Given the description of an element on the screen output the (x, y) to click on. 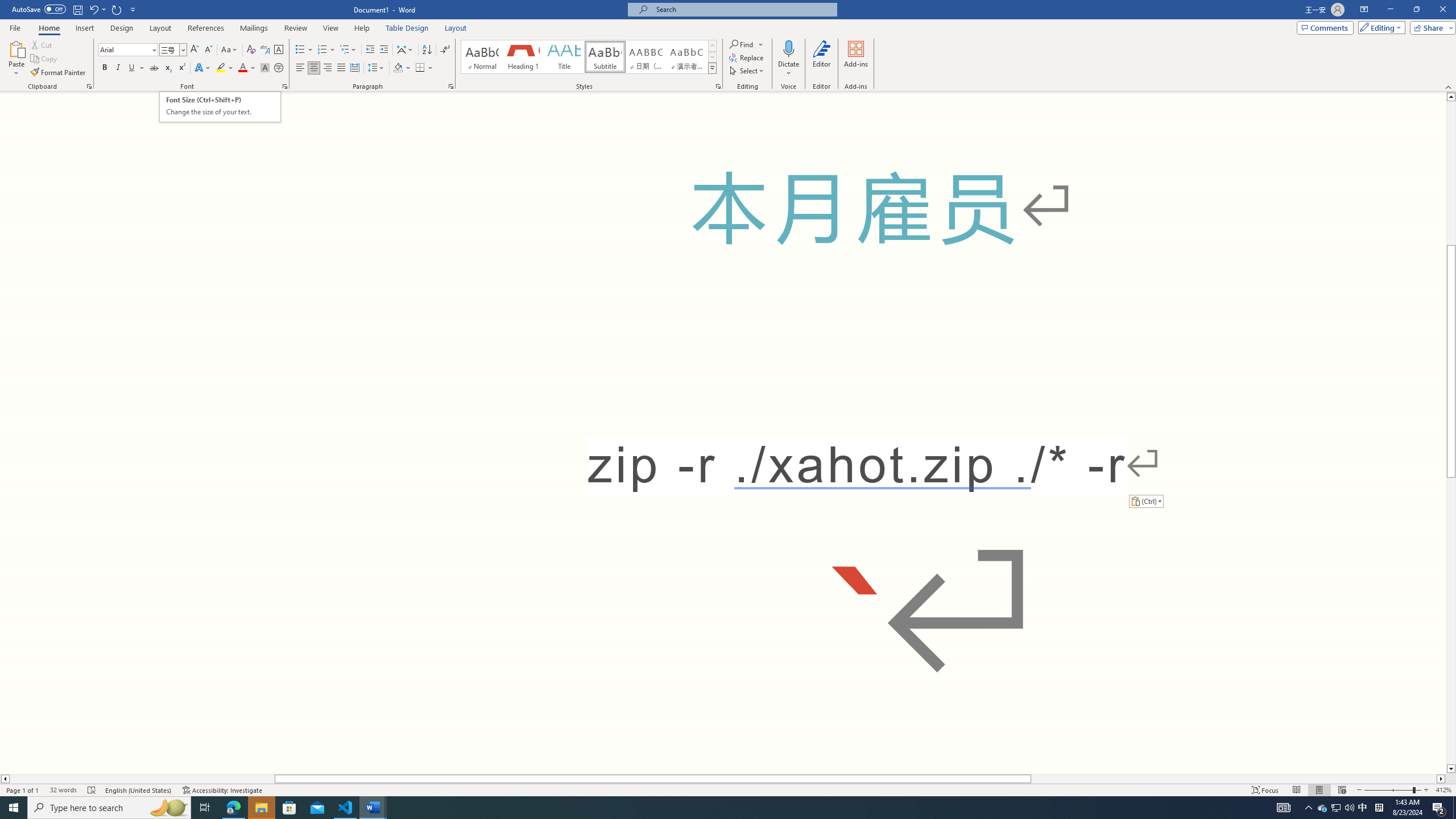
Page 1 content (722, 432)
